Given the description of an element on the screen output the (x, y) to click on. 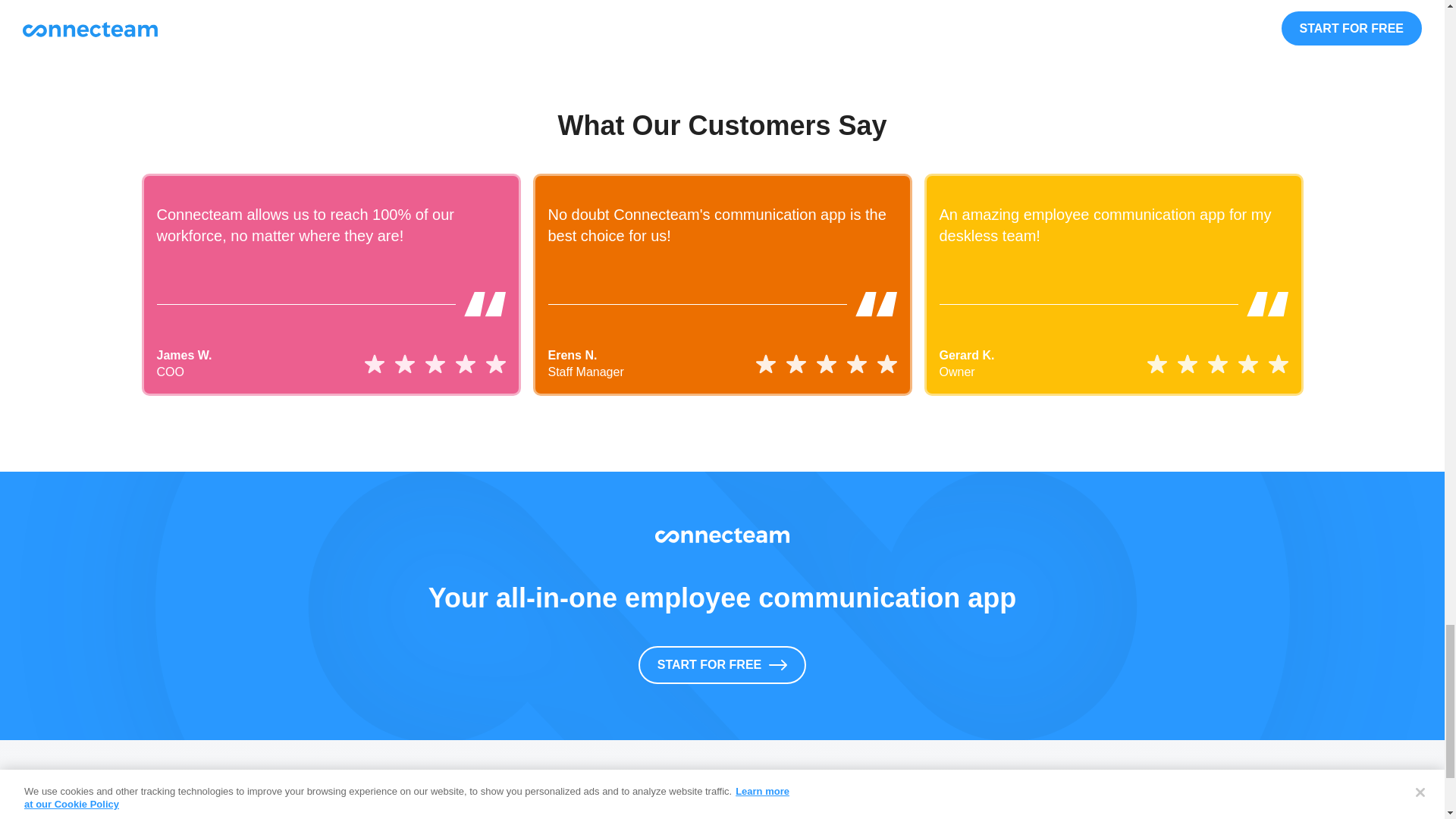
START FOR FREE (722, 664)
